Given the description of an element on the screen output the (x, y) to click on. 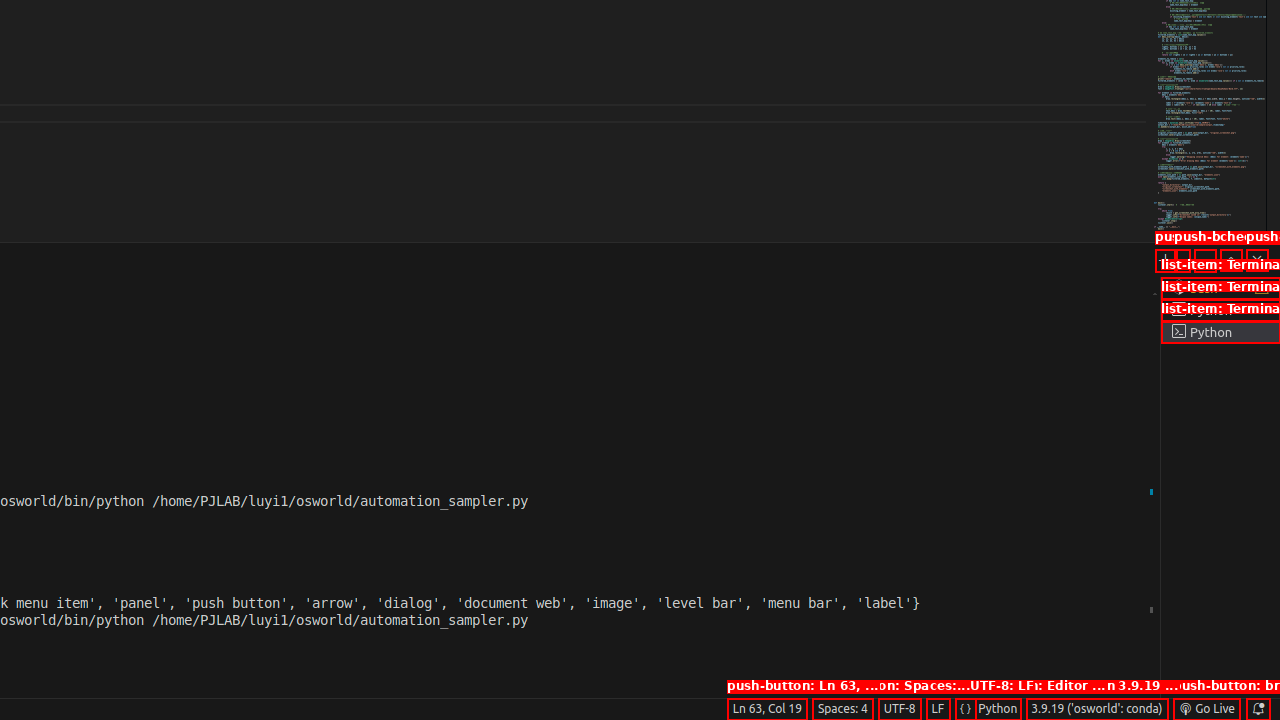
Ln 63, Col 19 Element type: push-button (767, 709)
Terminal 2 Python Element type: list-item (1220, 310)
Launch Profile... Element type: push-button (1182, 260)
LF Element type: push-button (938, 709)
Notifications Element type: push-button (1258, 709)
